Given the description of an element on the screen output the (x, y) to click on. 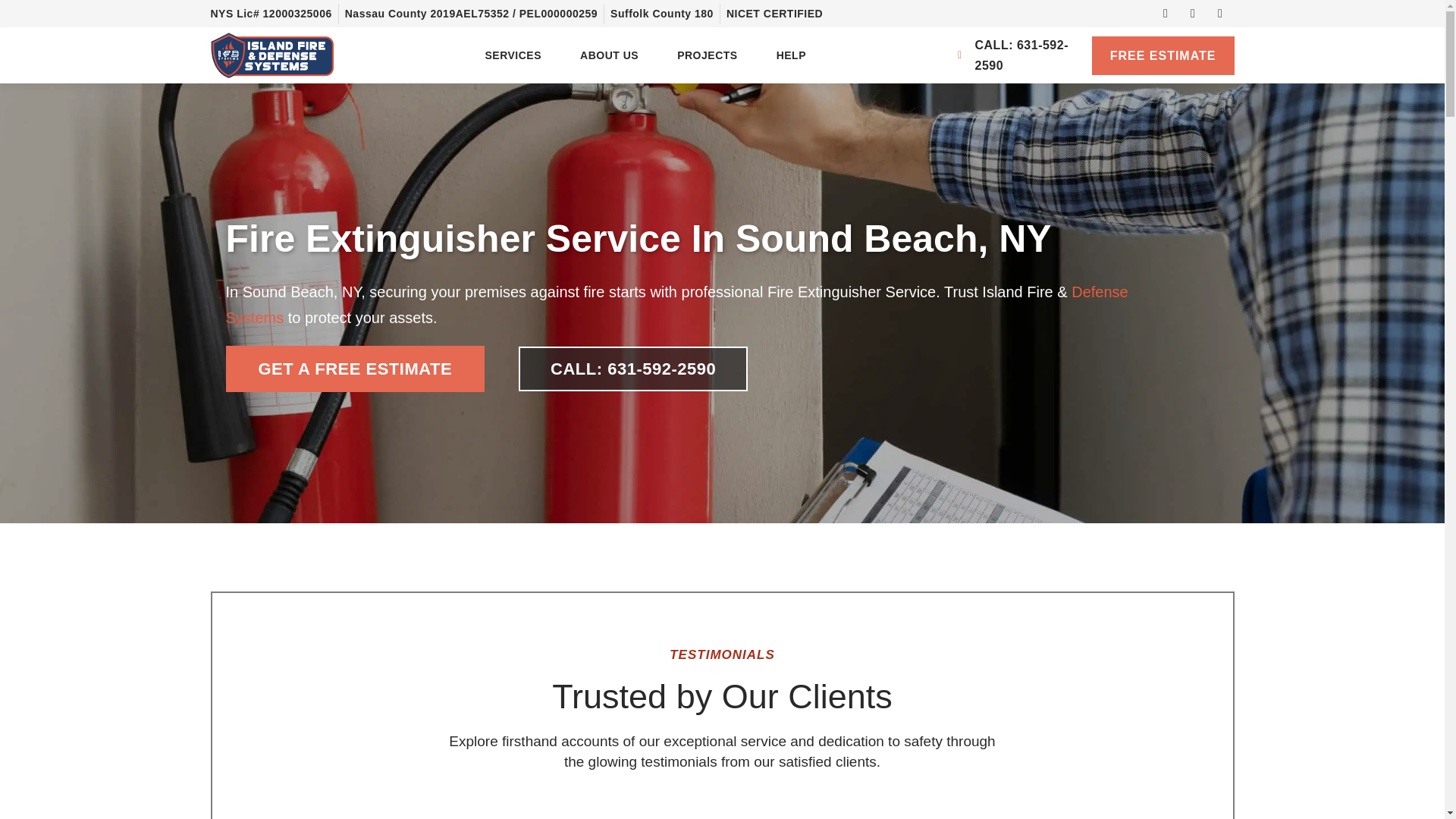
Fire Extinguishers (676, 304)
PROJECTS (706, 55)
SERVICES (512, 55)
ABOUT US (609, 55)
HELP (791, 55)
